Given the description of an element on the screen output the (x, y) to click on. 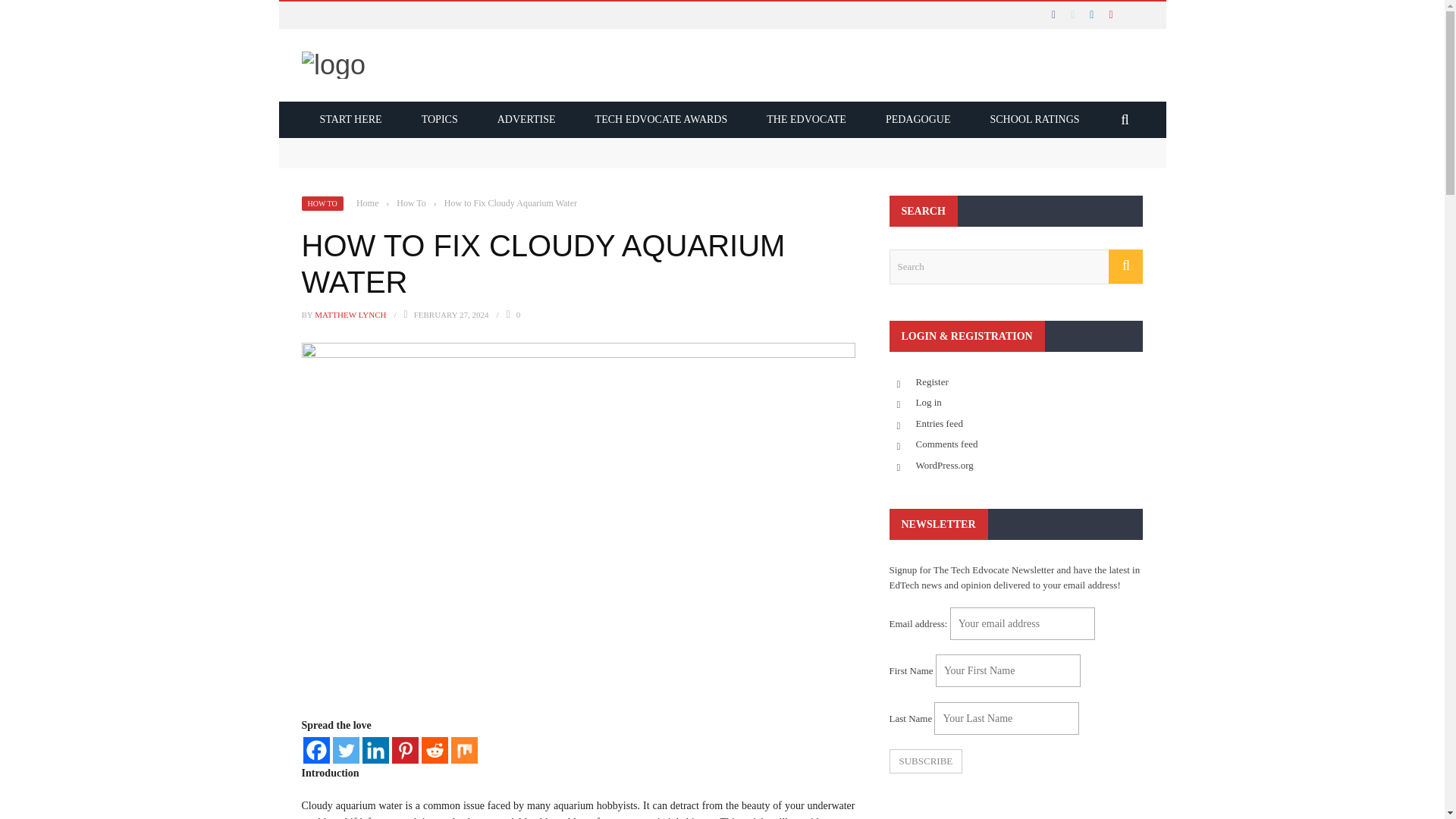
Reddit (435, 750)
Subscribe (925, 761)
Twitter (344, 750)
Mix (463, 750)
Pinterest (404, 750)
Linkedin (375, 750)
Facebook (316, 750)
Search (1015, 266)
